Given the description of an element on the screen output the (x, y) to click on. 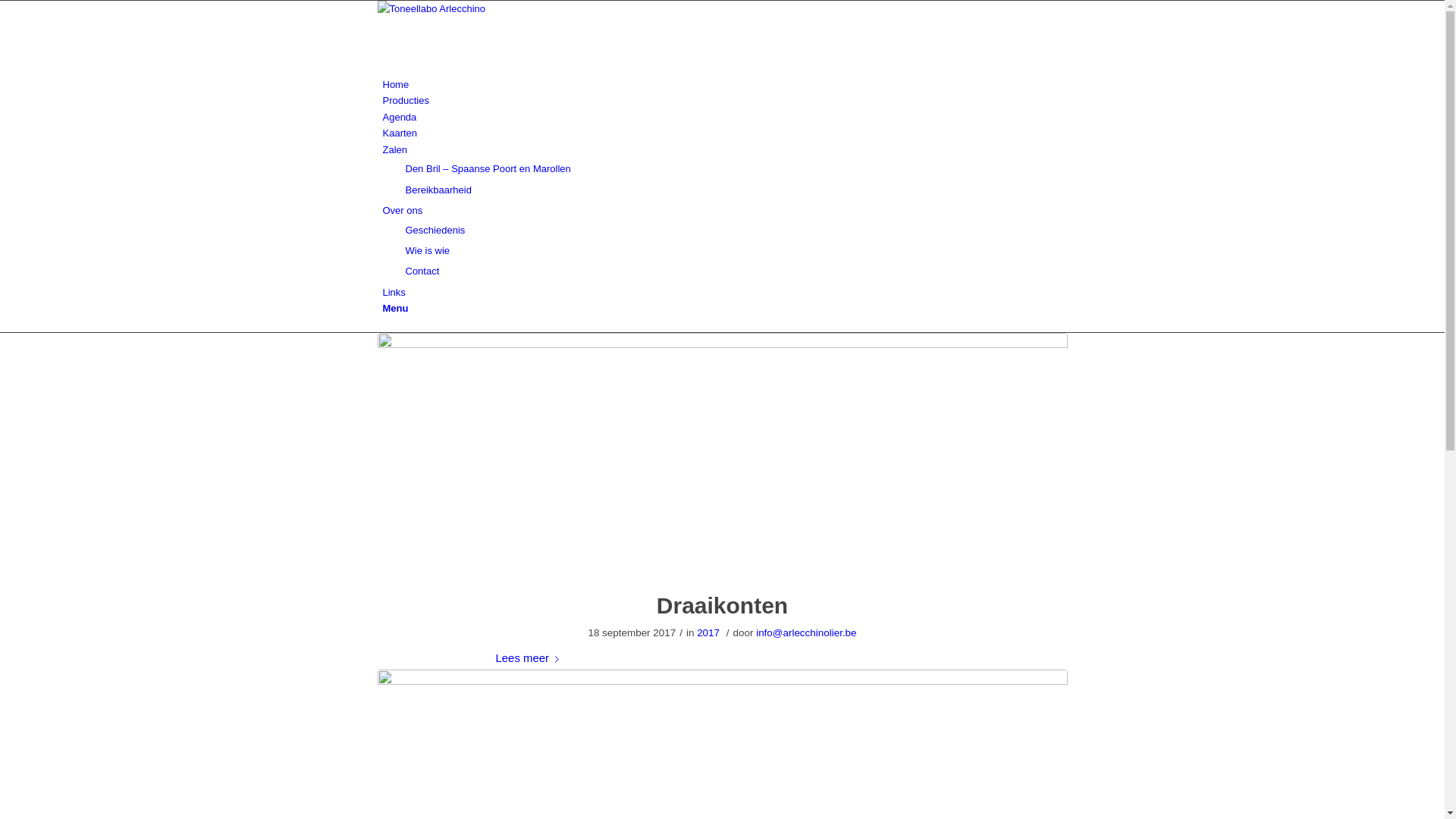
Producties Element type: text (405, 100)
Contact Element type: text (421, 270)
Over ons Element type: text (402, 210)
info@arlecchinolier.be Element type: text (806, 632)
Lees meer Element type: text (530, 658)
Geschiedenis Element type: text (434, 229)
Draaikonten Element type: text (721, 605)
Wie is wie Element type: text (426, 250)
Menu Element type: text (394, 307)
Arlecchino-draaikonten-affiche3 Element type: hover (722, 453)
Kaarten Element type: text (399, 132)
Agenda Element type: text (399, 116)
Links Element type: text (393, 292)
2017 Element type: text (707, 632)
Bereikbaarheid Element type: text (437, 189)
Zalen Element type: text (394, 149)
Home Element type: text (395, 84)
